Given the description of an element on the screen output the (x, y) to click on. 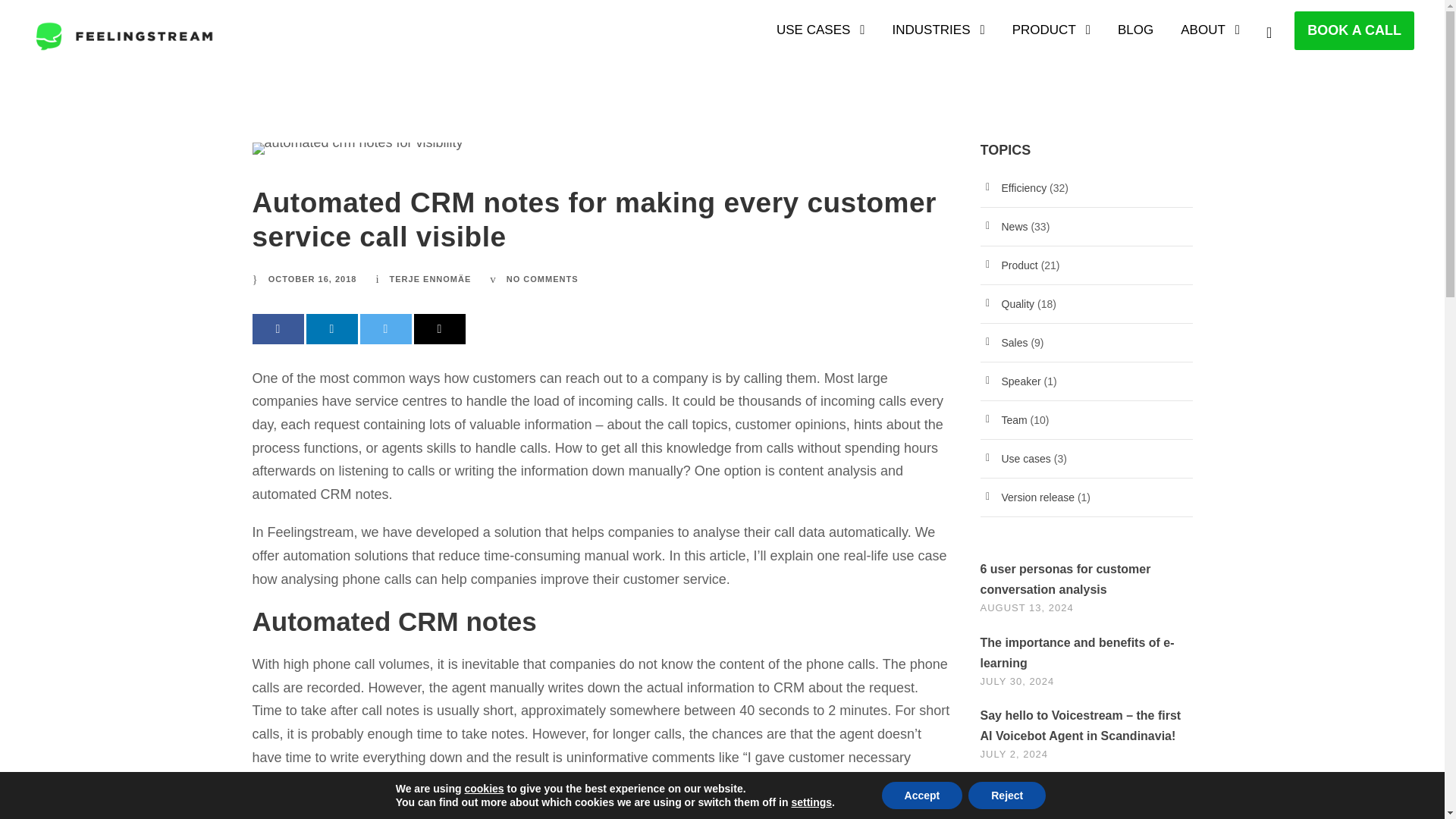
INDUSTRIES (938, 37)
automated crm notes for visibility (357, 148)
Feelingstream logo for web (124, 36)
USE CASES (820, 37)
